Given the description of an element on the screen output the (x, y) to click on. 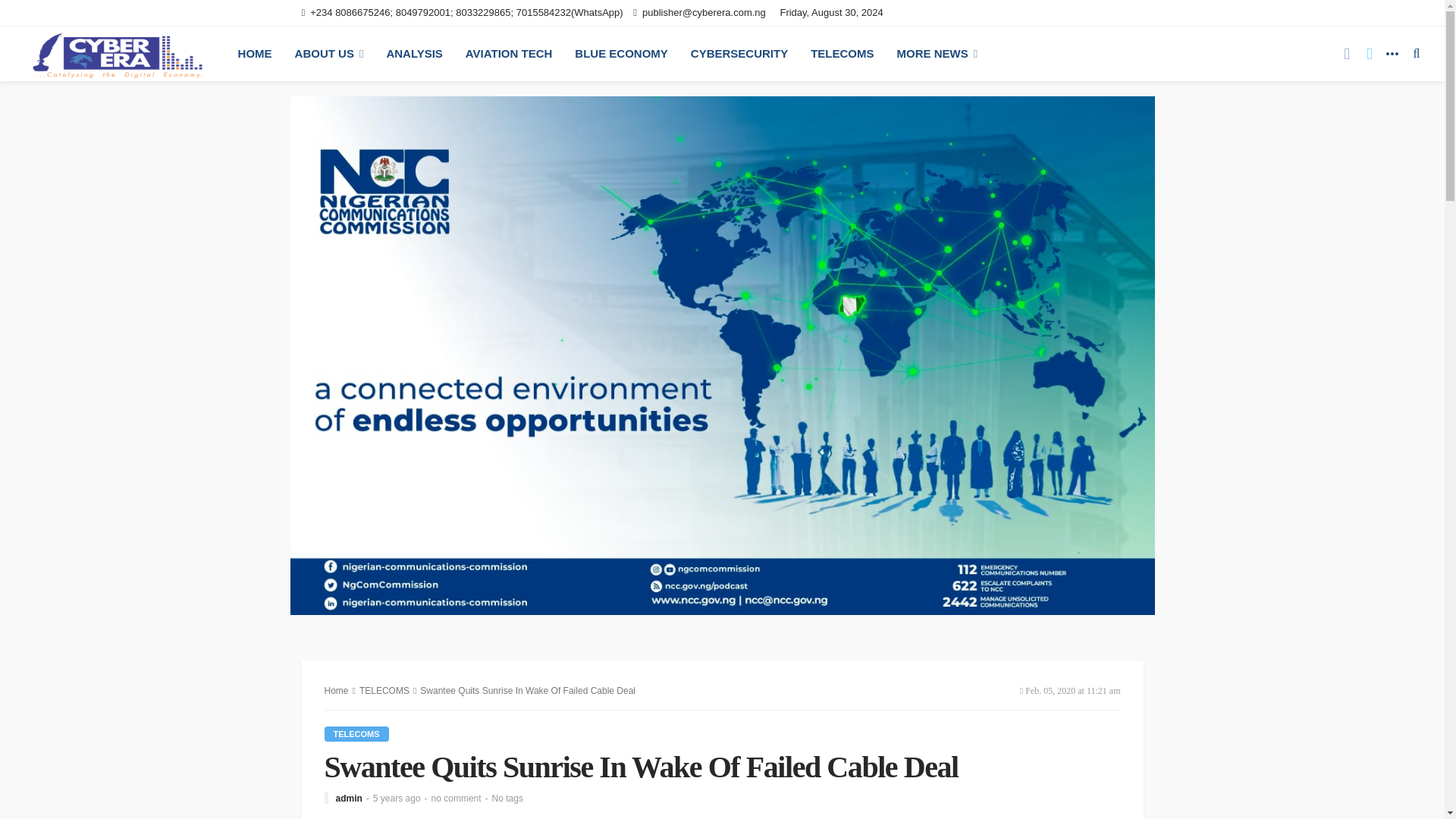
Swantee Quits Sunrise In Wake Of Failed Cable Deal (455, 798)
CYBER ERA: Catalyzing the Digital Economy (116, 53)
TELECOMS (356, 734)
